Given the description of an element on the screen output the (x, y) to click on. 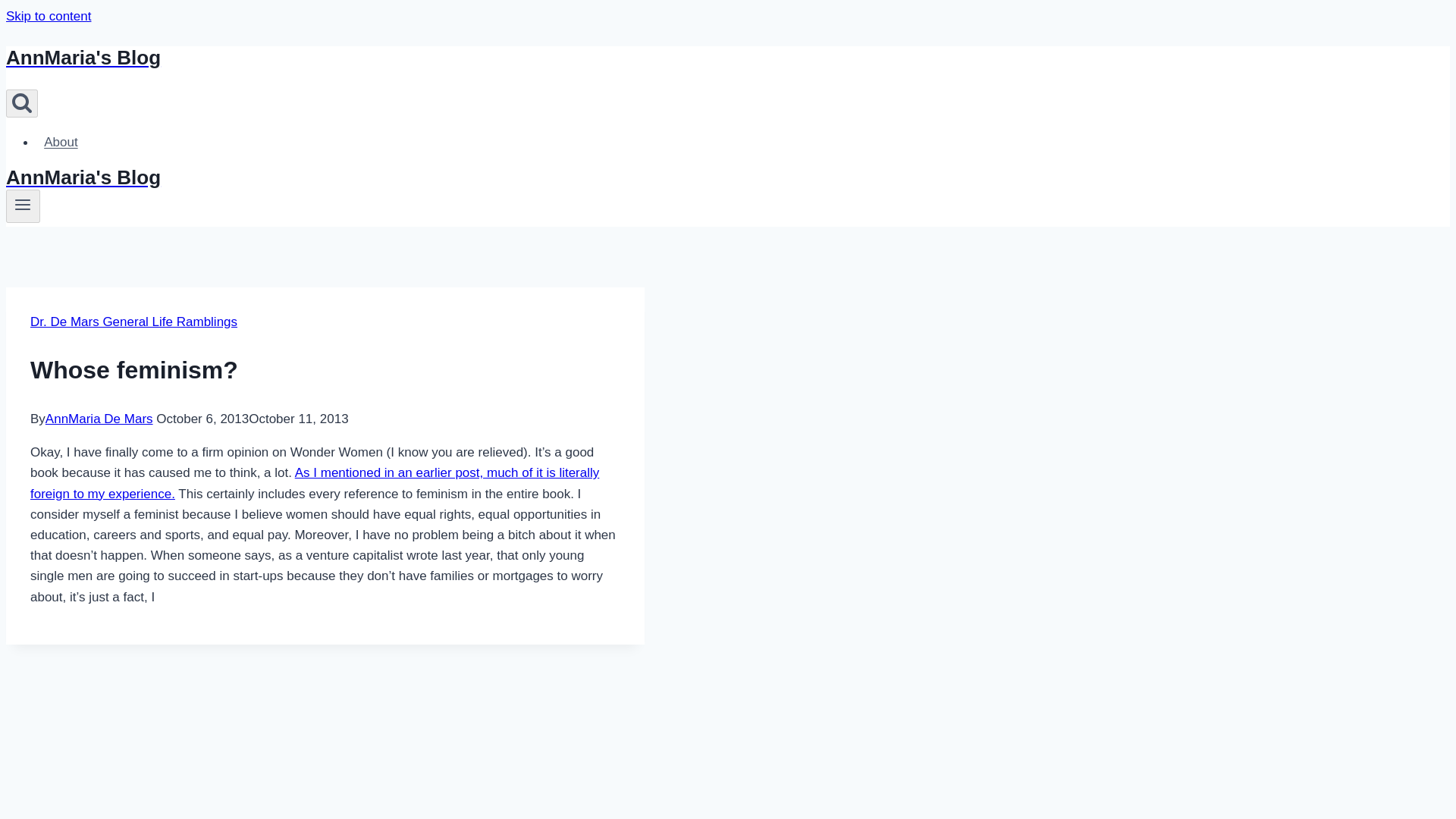
AnnMaria's Blog (494, 57)
AnnMaria De Mars (98, 418)
Skip to content (47, 16)
AnnMaria's Blog (494, 177)
Toggle Menu (22, 205)
Skip to content (47, 16)
Dr. De Mars General Life Ramblings (133, 321)
Search (21, 103)
Search (21, 102)
About (60, 142)
Toggle Menu (22, 204)
